Given the description of an element on the screen output the (x, y) to click on. 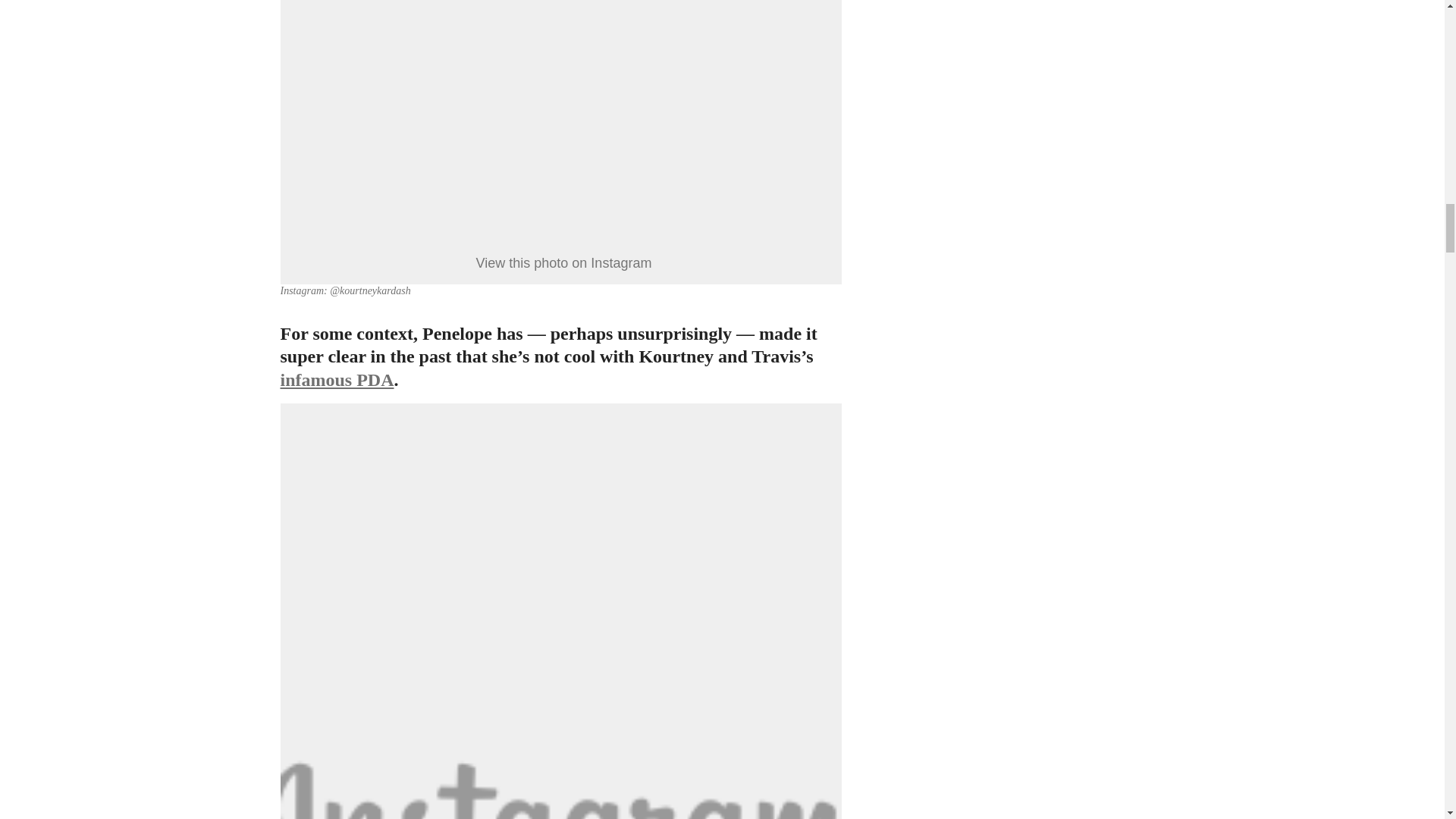
infamous PDA (337, 379)
